Given the description of an element on the screen output the (x, y) to click on. 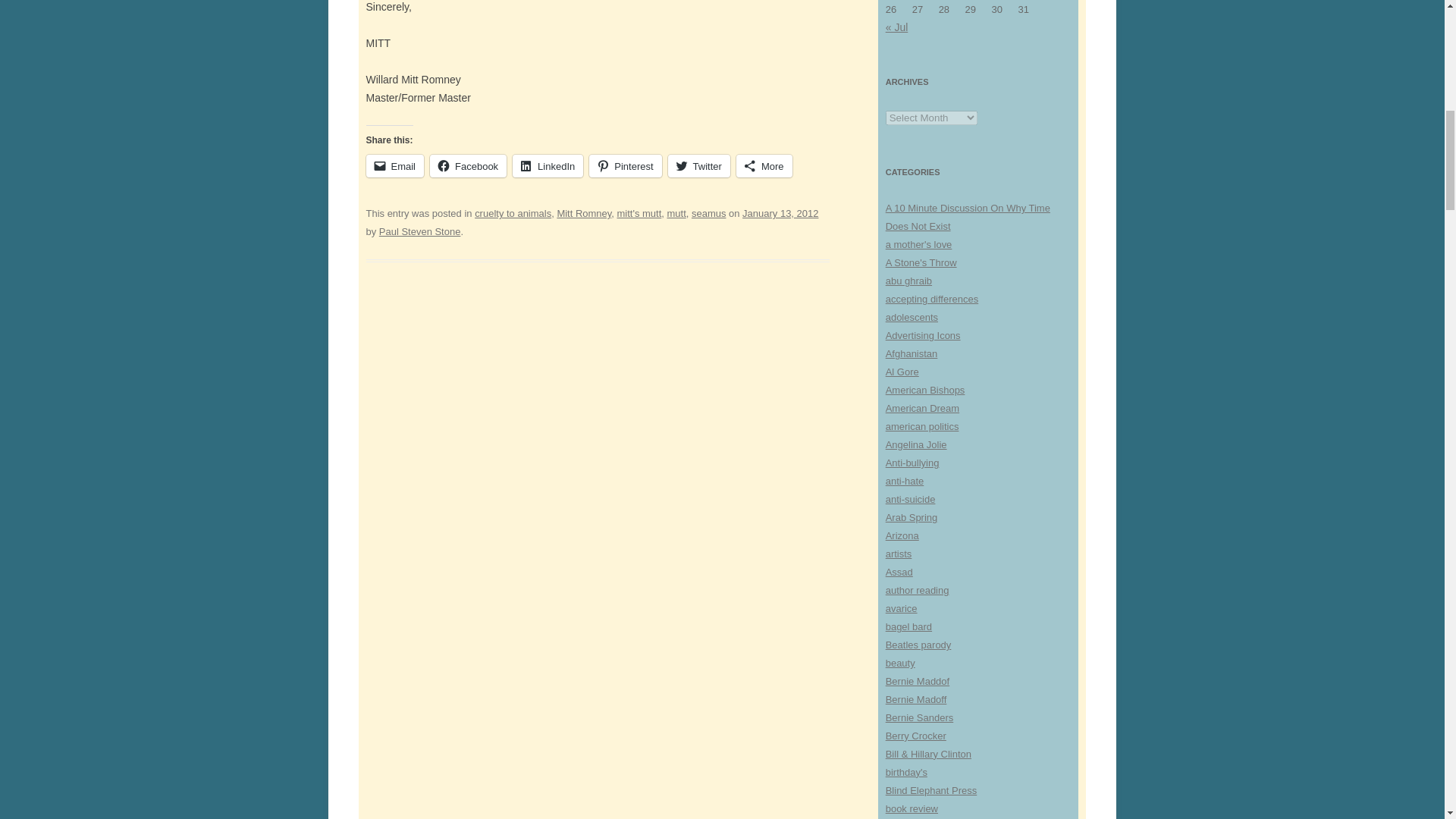
Click to share on Pinterest (625, 165)
Click to share on LinkedIn (547, 165)
mitt's mutt (639, 213)
abu ghraib (908, 280)
Click to share on Facebook (467, 165)
Twitter (699, 165)
Mitt Romney (583, 213)
4:00 pm (780, 213)
View all posts by Paul Steven Stone (419, 231)
a mother's love (918, 244)
